Given the description of an element on the screen output the (x, y) to click on. 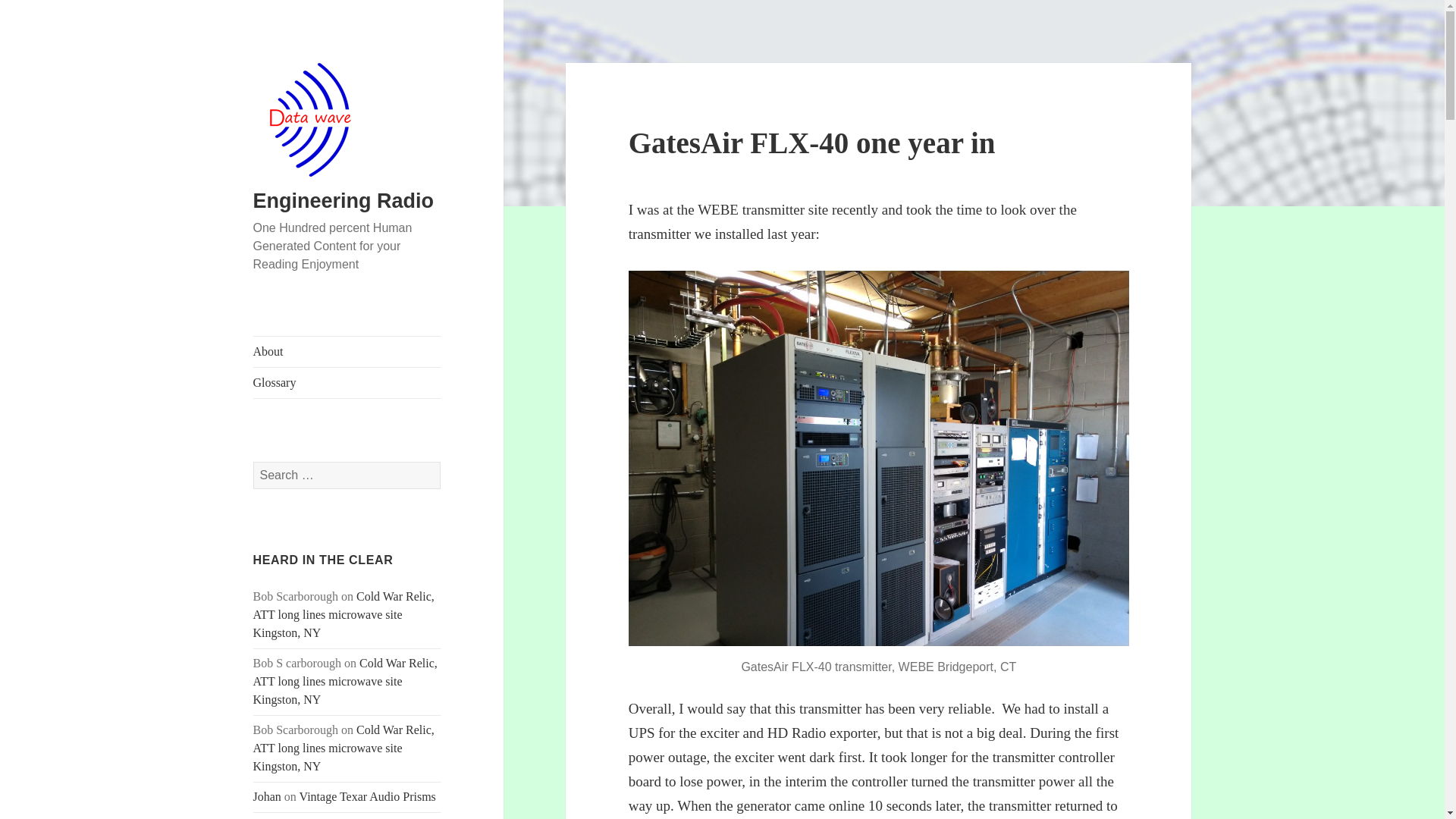
Cold War Relic, ATT long lines microwave site Kingston, NY (343, 748)
Johan (267, 796)
Glossary (347, 382)
Engineering Radio (343, 200)
Vintage Texar Audio Prisms (367, 796)
Cold War Relic, ATT long lines microwave site Kingston, NY (343, 614)
Cold War Relic, ATT long lines microwave site Kingston, NY (345, 680)
About (347, 351)
